Given the description of an element on the screen output the (x, y) to click on. 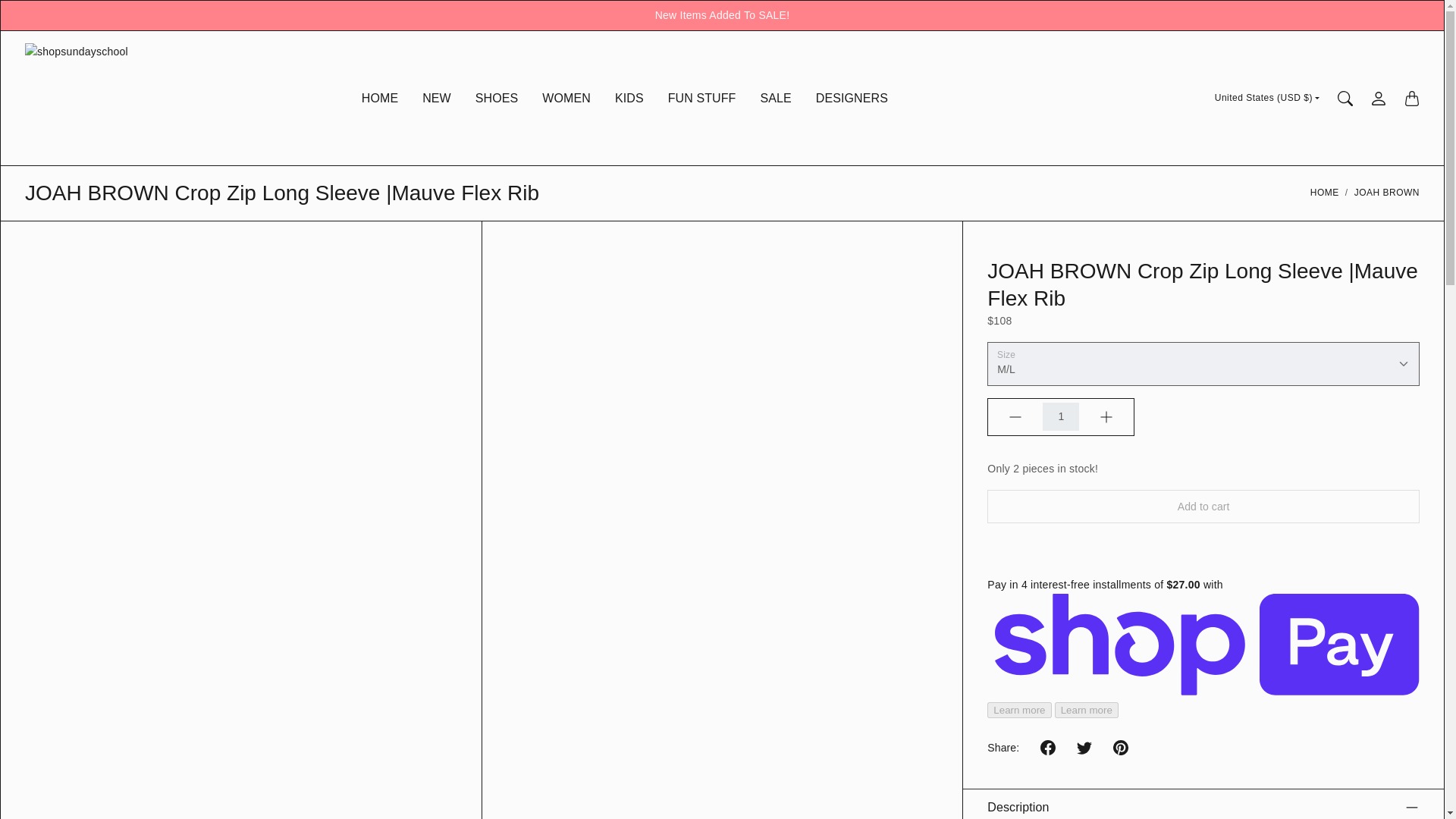
1 (1060, 416)
Home (1324, 192)
